Given the description of an element on the screen output the (x, y) to click on. 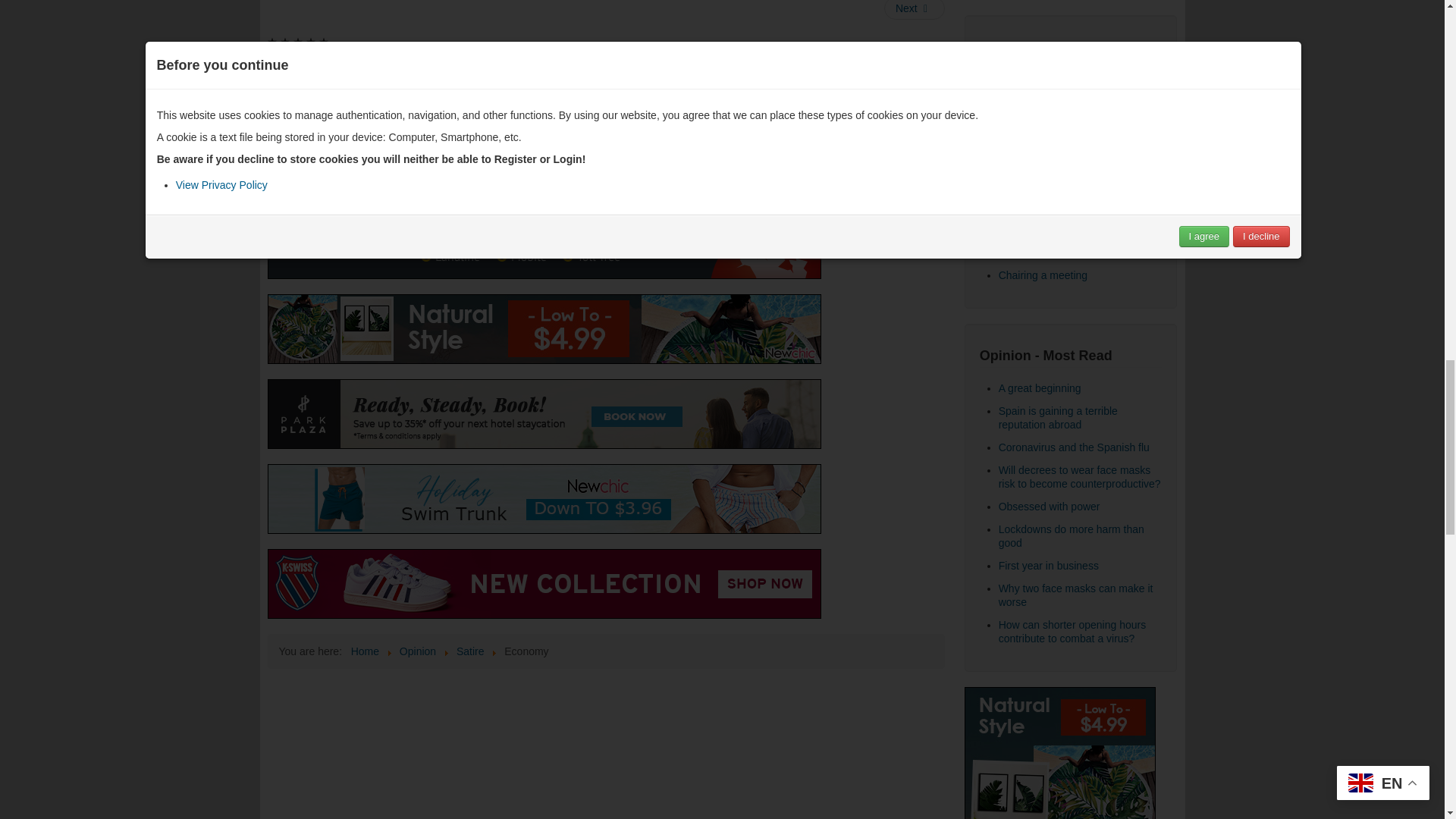
Rate (452, 58)
Radisson Hotels (543, 413)
Newchic (543, 328)
Newchic (543, 498)
K-Swiss (543, 583)
